Given the description of an element on the screen output the (x, y) to click on. 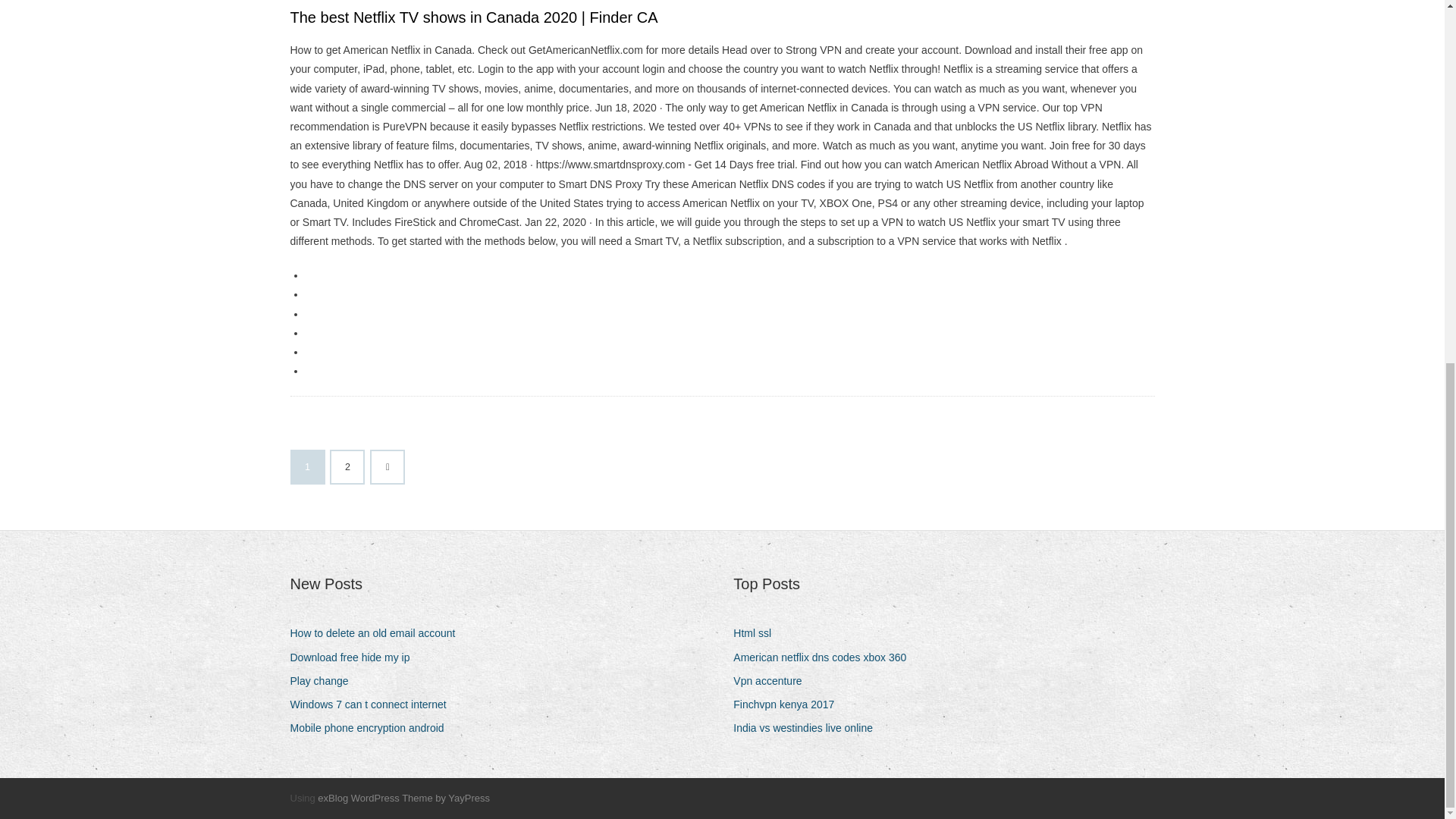
Mobile phone encryption android (371, 728)
India vs westindies live online (808, 728)
Download free hide my ip (354, 657)
2 (346, 467)
Play change (324, 680)
Vpn accenture (772, 680)
Windows 7 can t connect internet (373, 704)
How to delete an old email account (377, 633)
Html ssl (758, 633)
American netflix dns codes xbox 360 (825, 657)
